Given the description of an element on the screen output the (x, y) to click on. 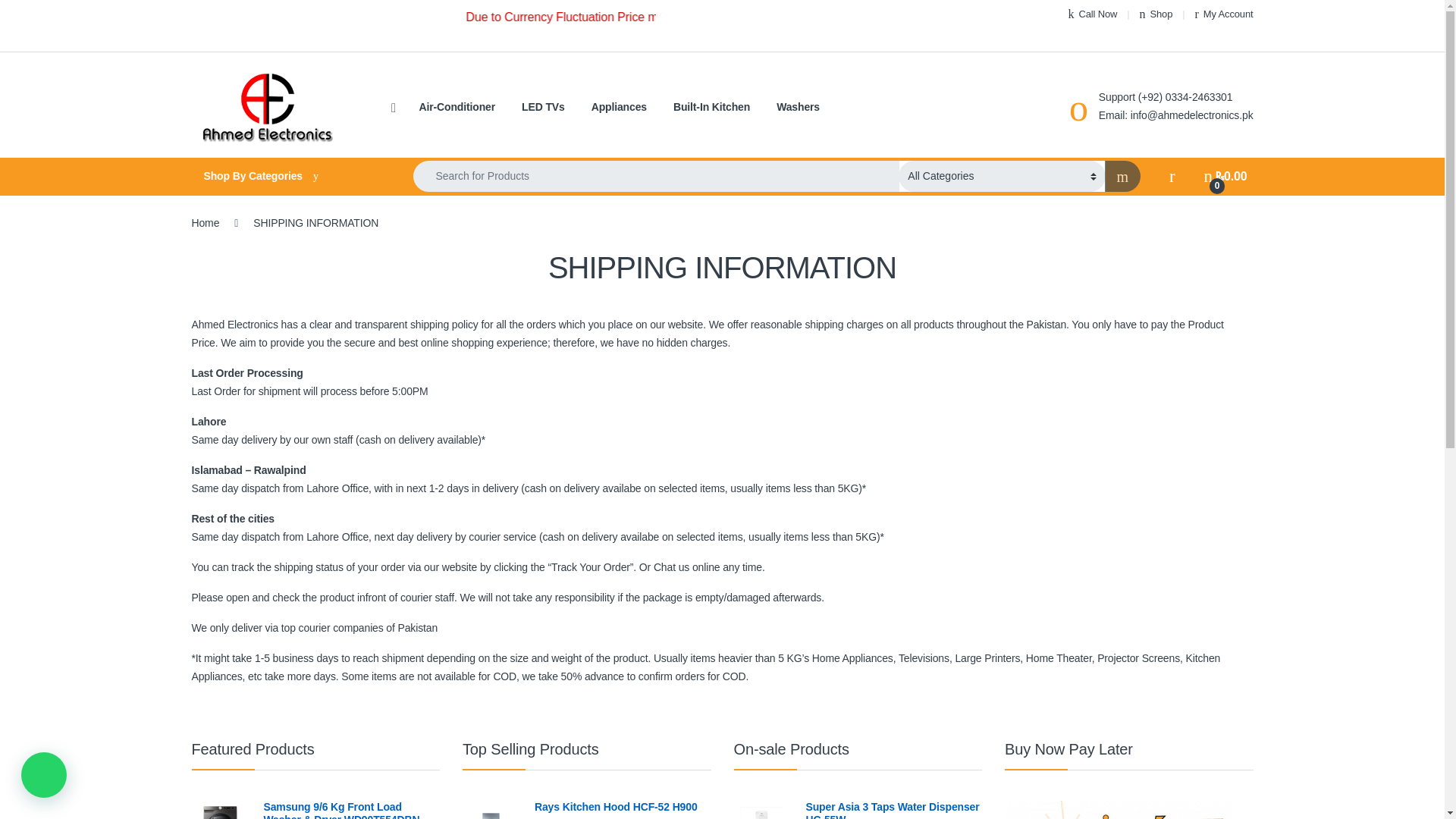
My Account (1224, 13)
Shop (1156, 13)
Shop (1156, 13)
Call Now (1093, 13)
Call Now (1093, 13)
My Account (1224, 13)
